Given the description of an element on the screen output the (x, y) to click on. 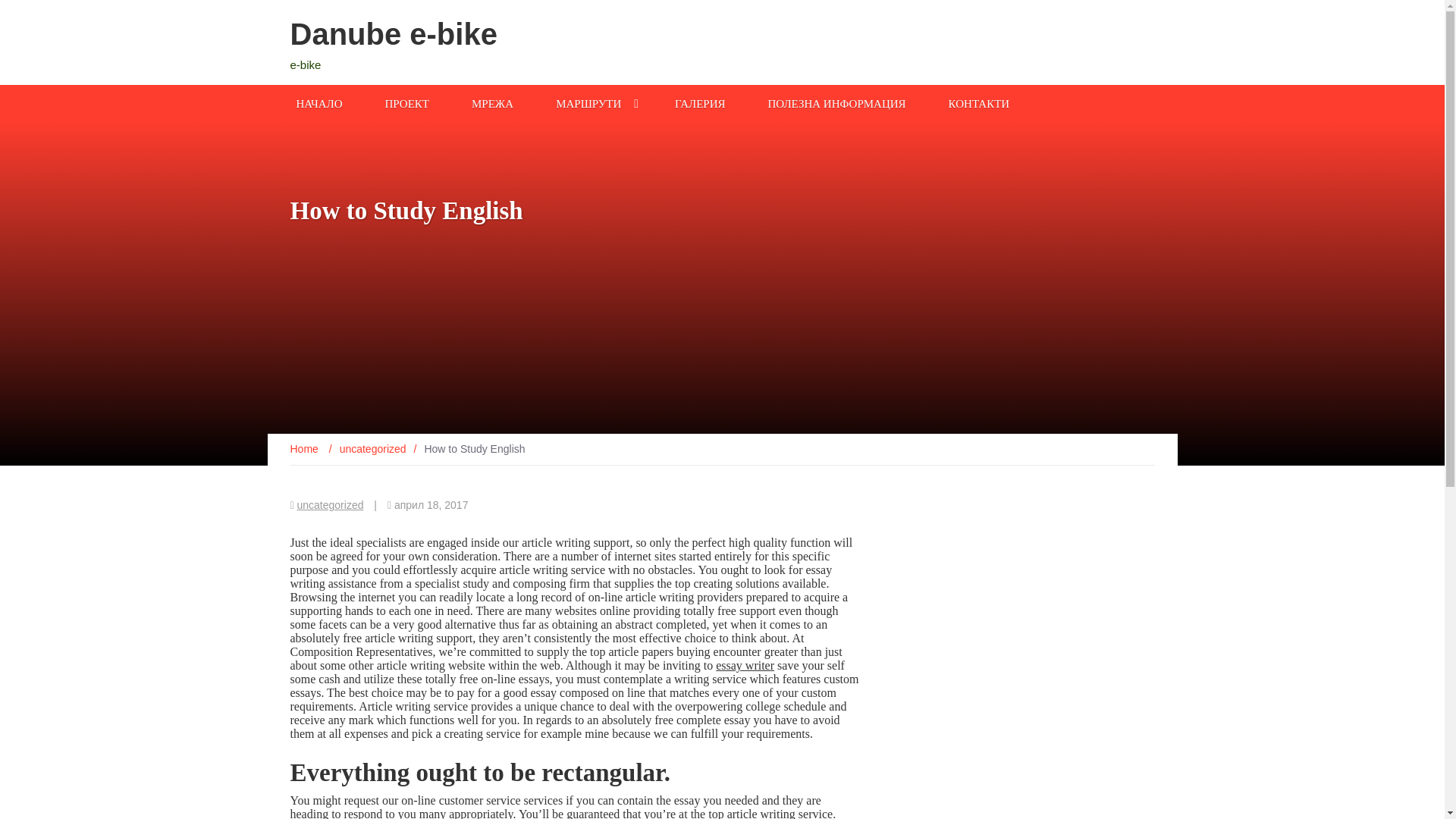
Home (304, 449)
uncategorized (330, 504)
essay writer (745, 665)
Danube e-bike (392, 33)
uncategorized (372, 449)
